Given the description of an element on the screen output the (x, y) to click on. 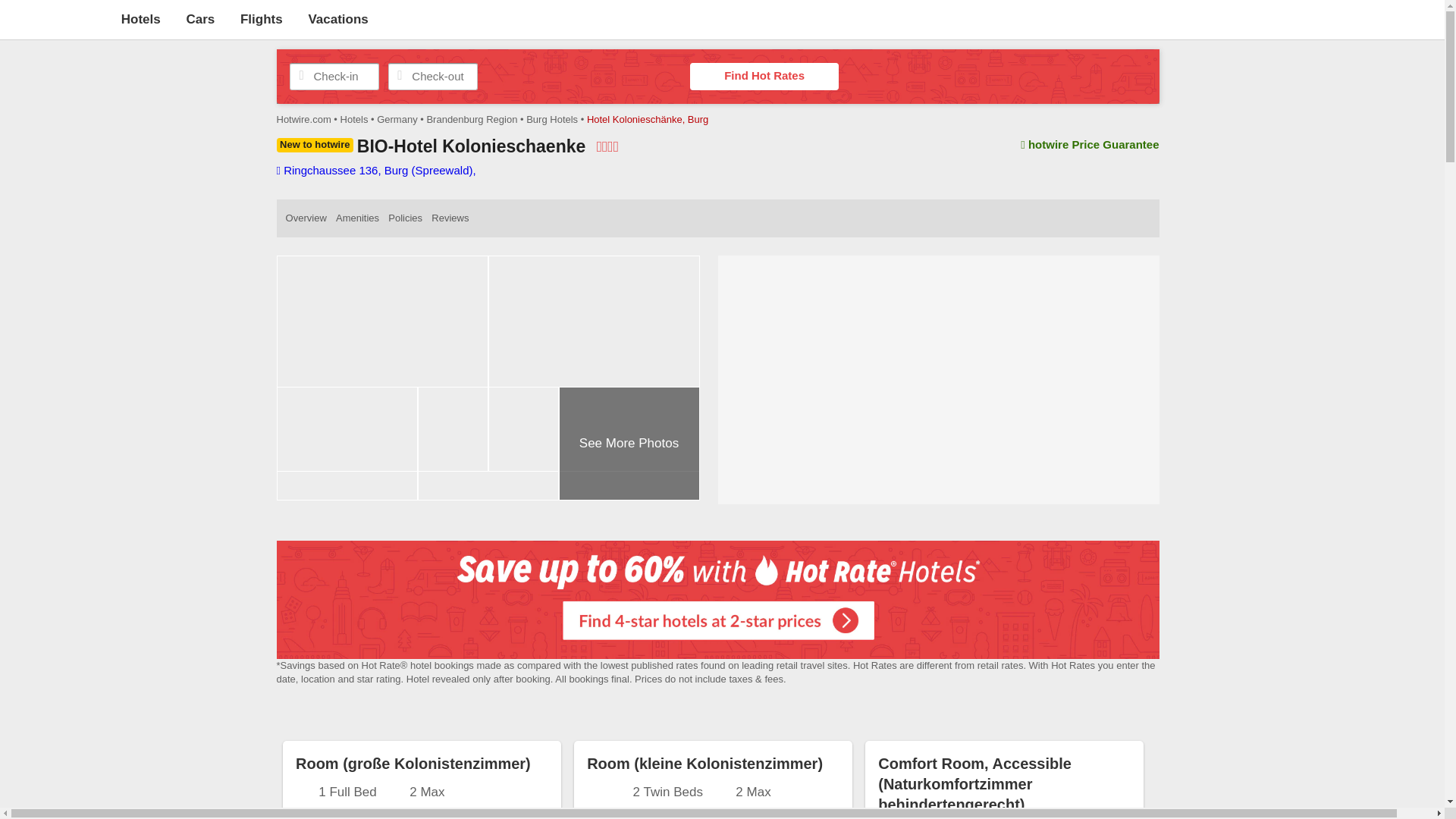
Vacations (337, 19)
Flights (261, 19)
Hotels (140, 19)
3.5 (607, 146)
Hotwire (56, 18)
Cars (200, 19)
